Given the description of an element on the screen output the (x, y) to click on. 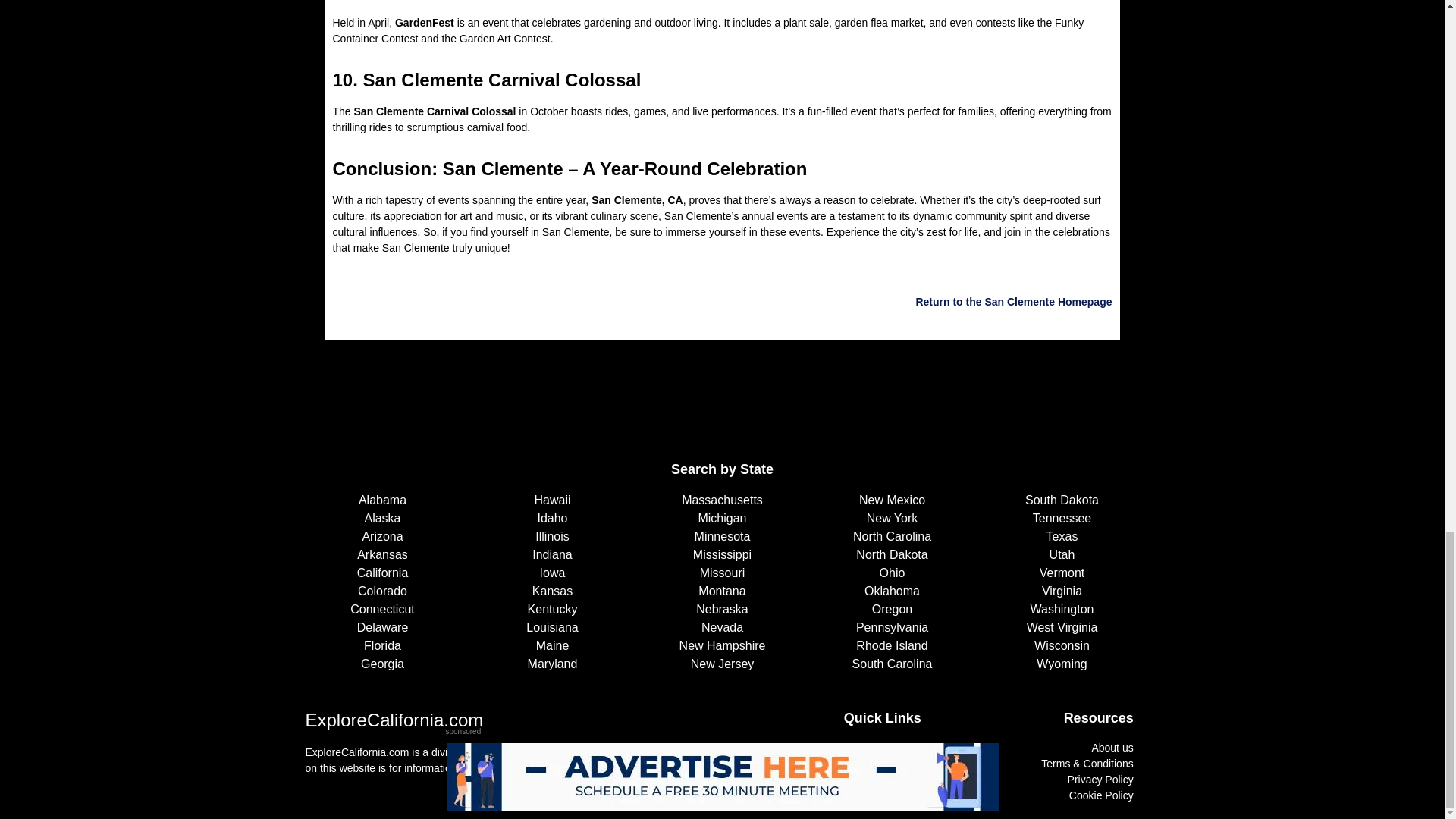
Kentucky (551, 609)
Colorado (382, 591)
Connecticut (382, 609)
Maryland (551, 664)
Minnesota (722, 536)
Louisiana (551, 628)
Georgia (382, 664)
Michigan (722, 518)
Idaho (551, 518)
Delaware (382, 628)
